Given the description of an element on the screen output the (x, y) to click on. 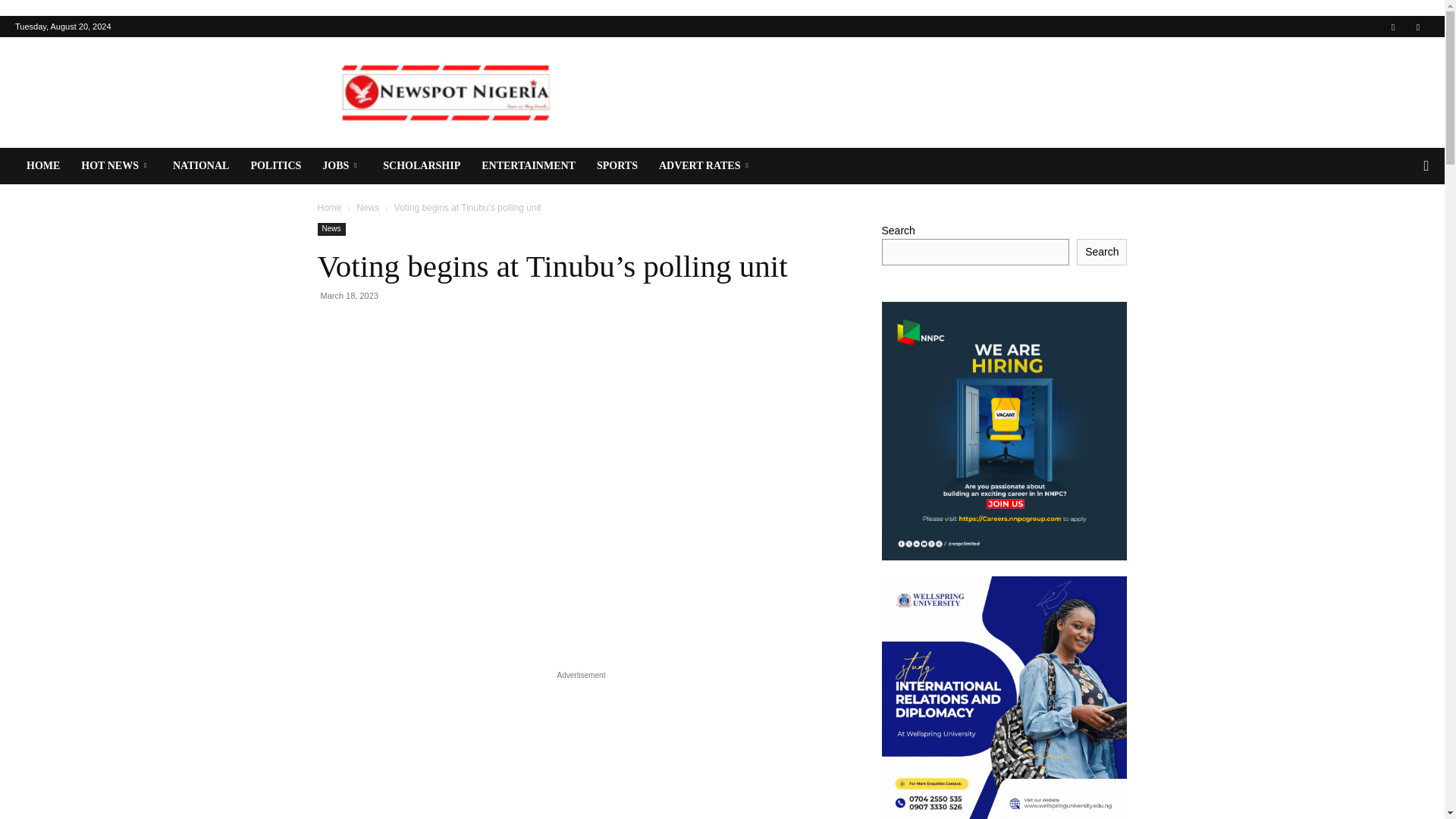
Twitter (1417, 25)
Home (328, 207)
Search (1395, 226)
HOME (42, 166)
SPORTS (616, 166)
SCHOLARSHIP (421, 166)
ENTERTAINMENT (528, 166)
NATIONAL (200, 166)
View all posts in News (367, 207)
HOT NEWS (115, 166)
